Given the description of an element on the screen output the (x, y) to click on. 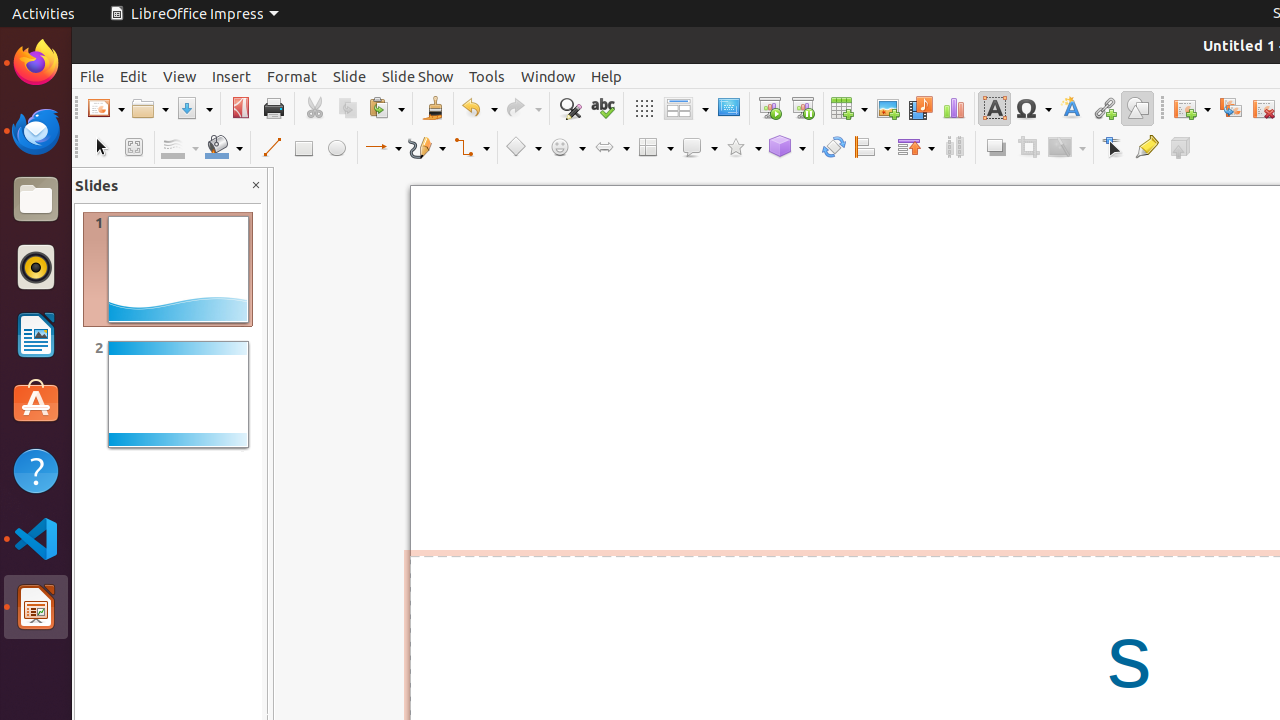
Cut Element type: push-button (314, 108)
Slide Element type: menu (349, 76)
Edit Points Element type: push-button (1113, 147)
Visual Studio Code Element type: push-button (36, 538)
